Given the description of an element on the screen output the (x, y) to click on. 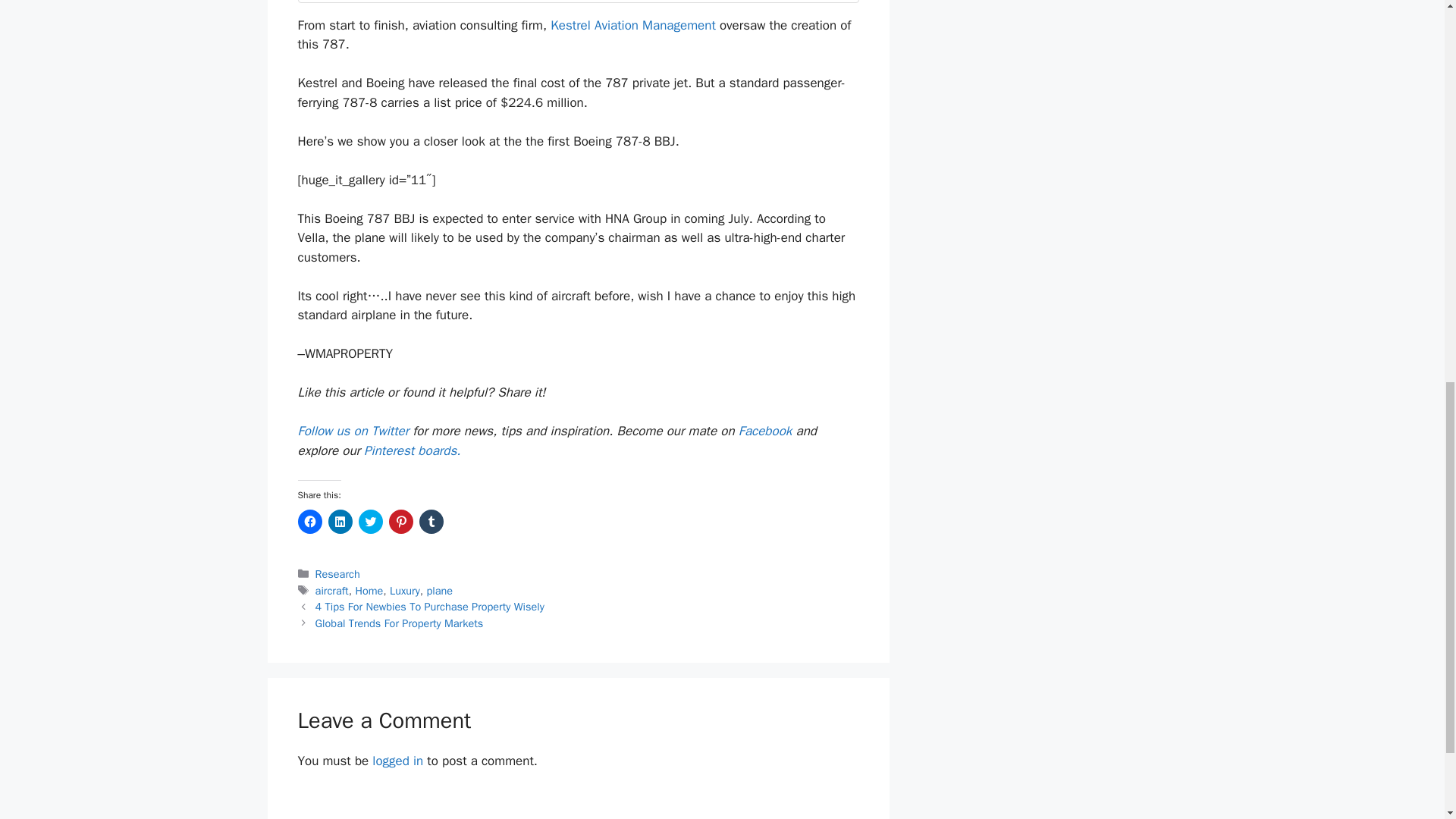
Facebook (767, 430)
4 Tips For Newbies To Purchase Property Wisely (429, 606)
Research (337, 573)
Global Trends For Property Markets (399, 622)
Click to share on Twitter (369, 521)
Click to share on Pinterest (400, 521)
logged in (397, 760)
Follow us on Twitter (354, 430)
Kestrel Aviation Management (634, 25)
Click to share on Tumblr (430, 521)
